Given the description of an element on the screen output the (x, y) to click on. 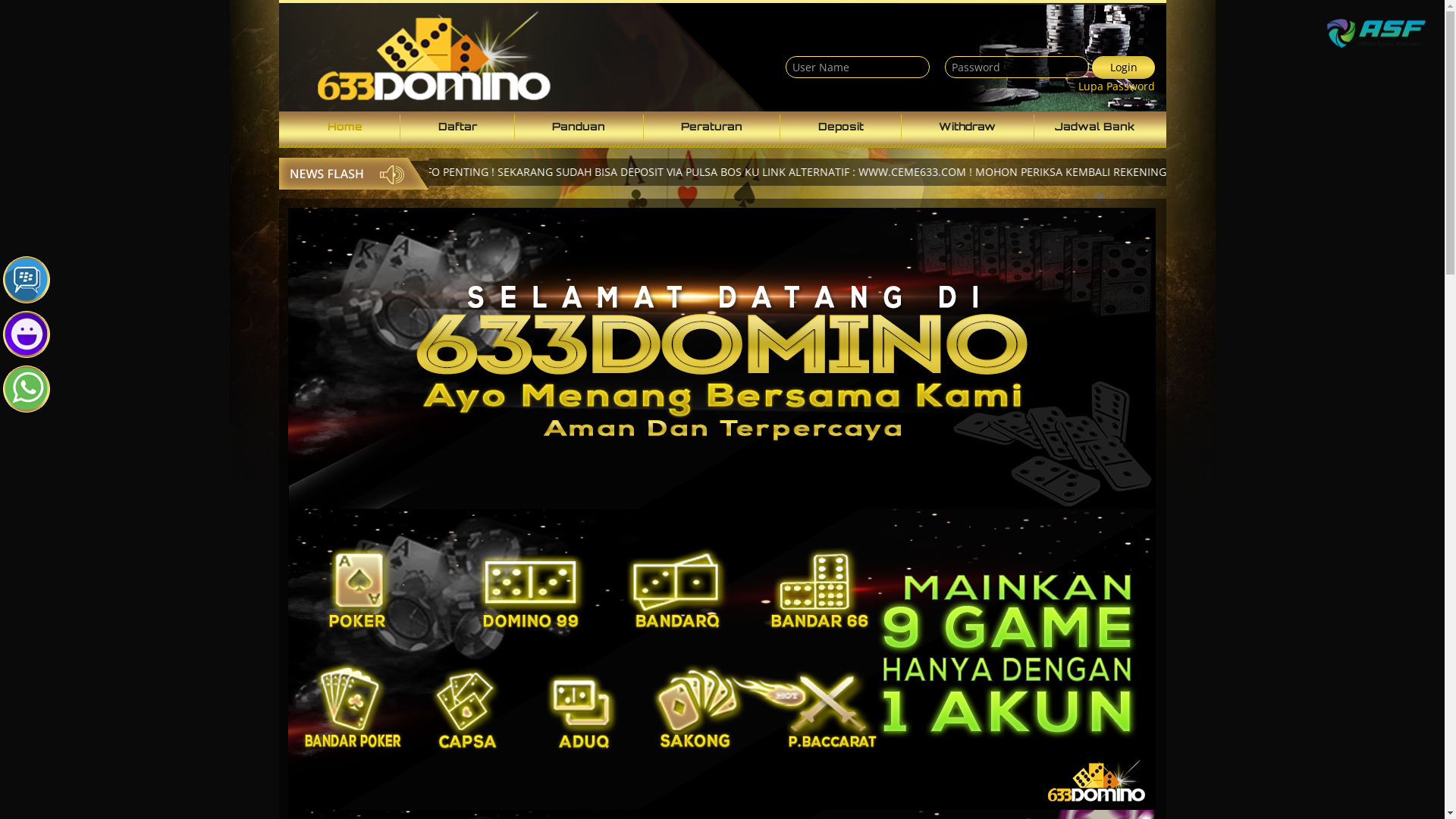
Lupa Password Element type: text (1116, 85)
Jadwal Bank Element type: text (1094, 127)
Withdraw Element type: text (967, 127)
Peraturan Element type: text (712, 127)
Login Element type: text (1123, 67)
Daftar Element type: text (457, 127)
Deposit Element type: text (840, 127)
Home Element type: text (344, 127)
Panduan Element type: text (578, 127)
